Given the description of an element on the screen output the (x, y) to click on. 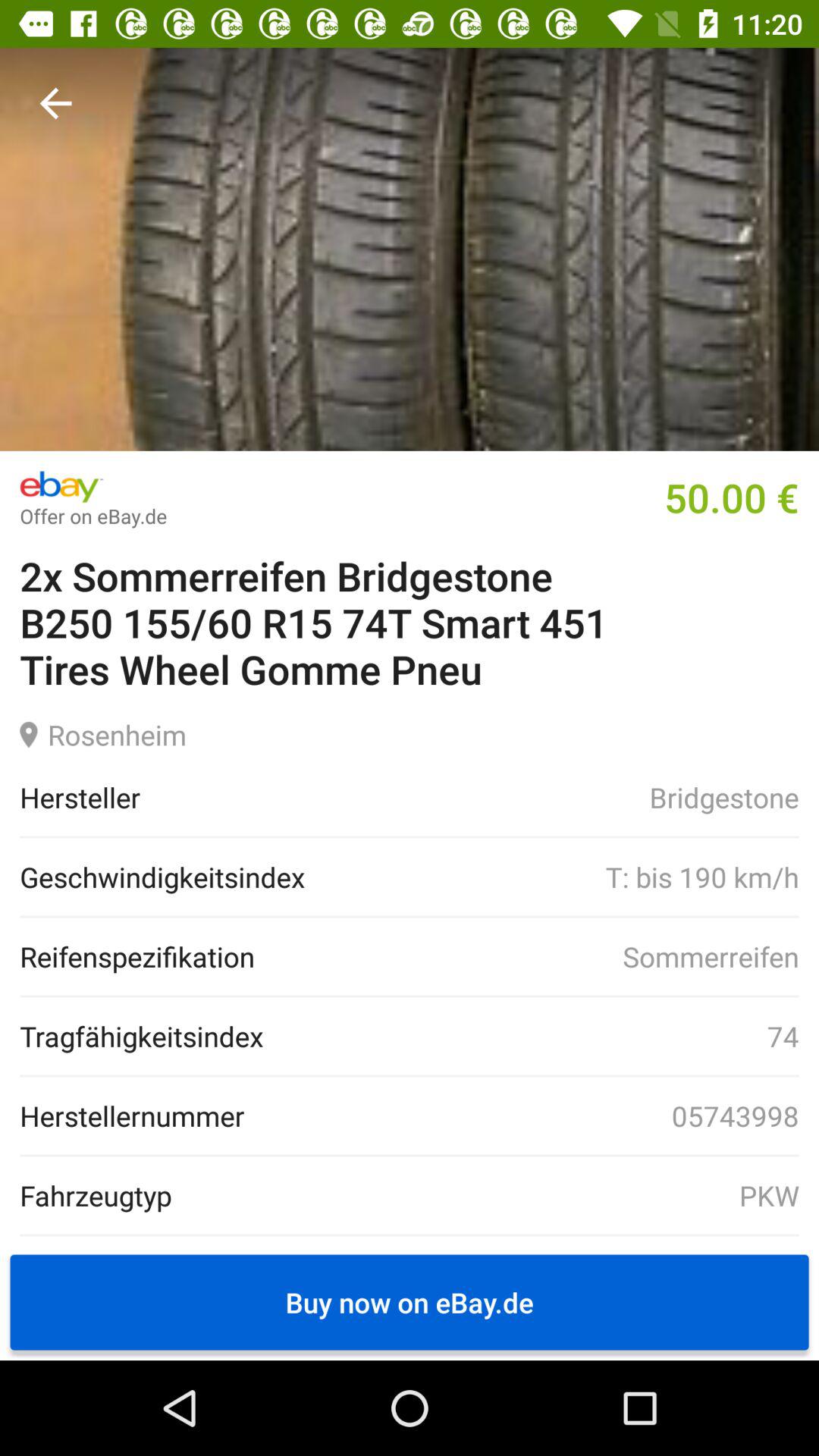
turn off the item next to geschwindigkeitsindex icon (551, 876)
